Given the description of an element on the screen output the (x, y) to click on. 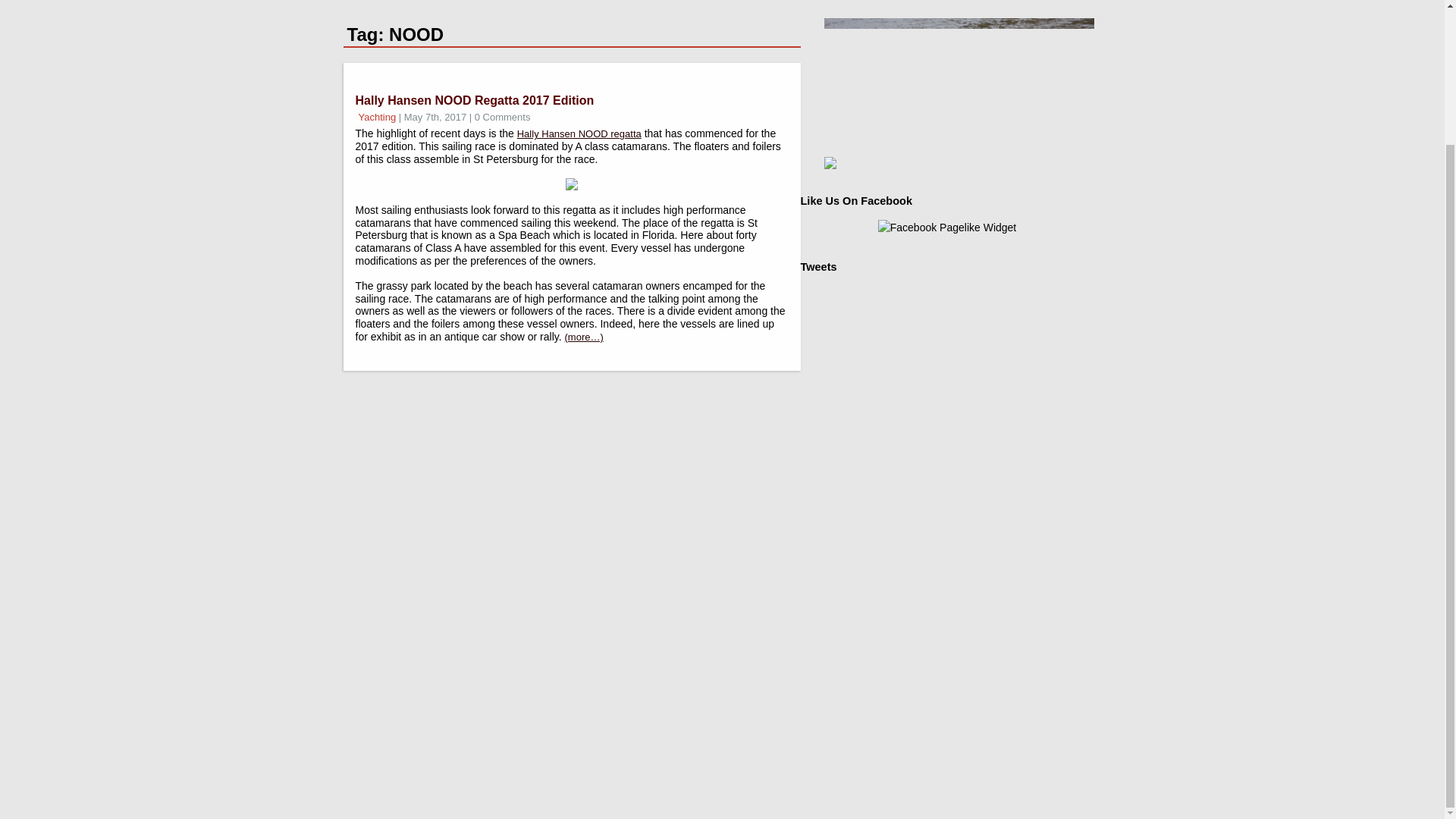
Hally Hansen NOOD regatta (579, 133)
Hally Hansen NOOD Regatta 2017 Edition (474, 100)
Hally Hansen NOOD Regatta 2017 Edition (474, 100)
Yachting (377, 116)
